Given the description of an element on the screen output the (x, y) to click on. 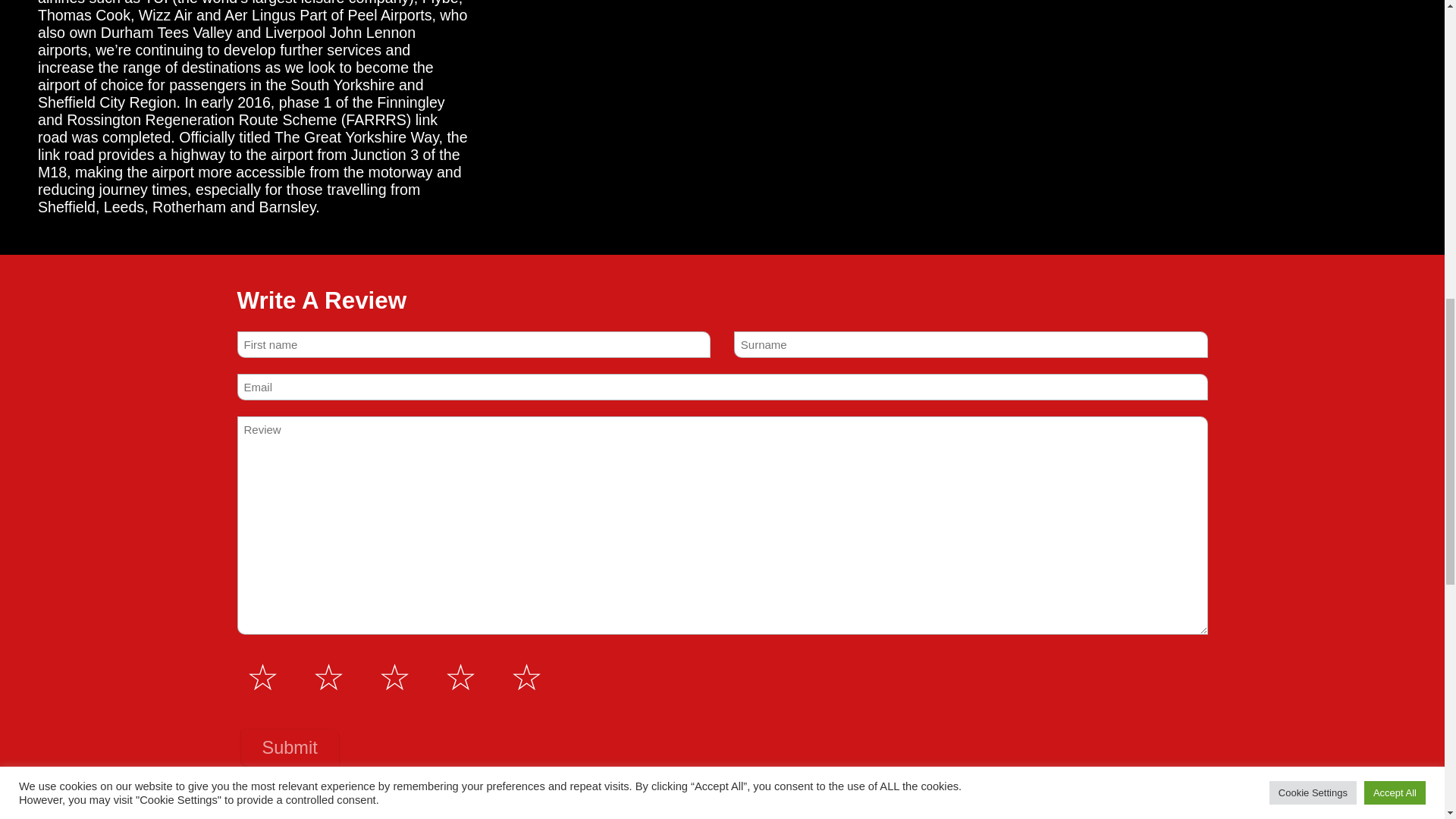
3 (396, 677)
2 (245, 657)
4 (463, 677)
1 (264, 677)
4 (245, 657)
5 (528, 677)
1 (245, 657)
3 (245, 657)
Submit (290, 748)
2 (330, 677)
5 (245, 657)
